Given the description of an element on the screen output the (x, y) to click on. 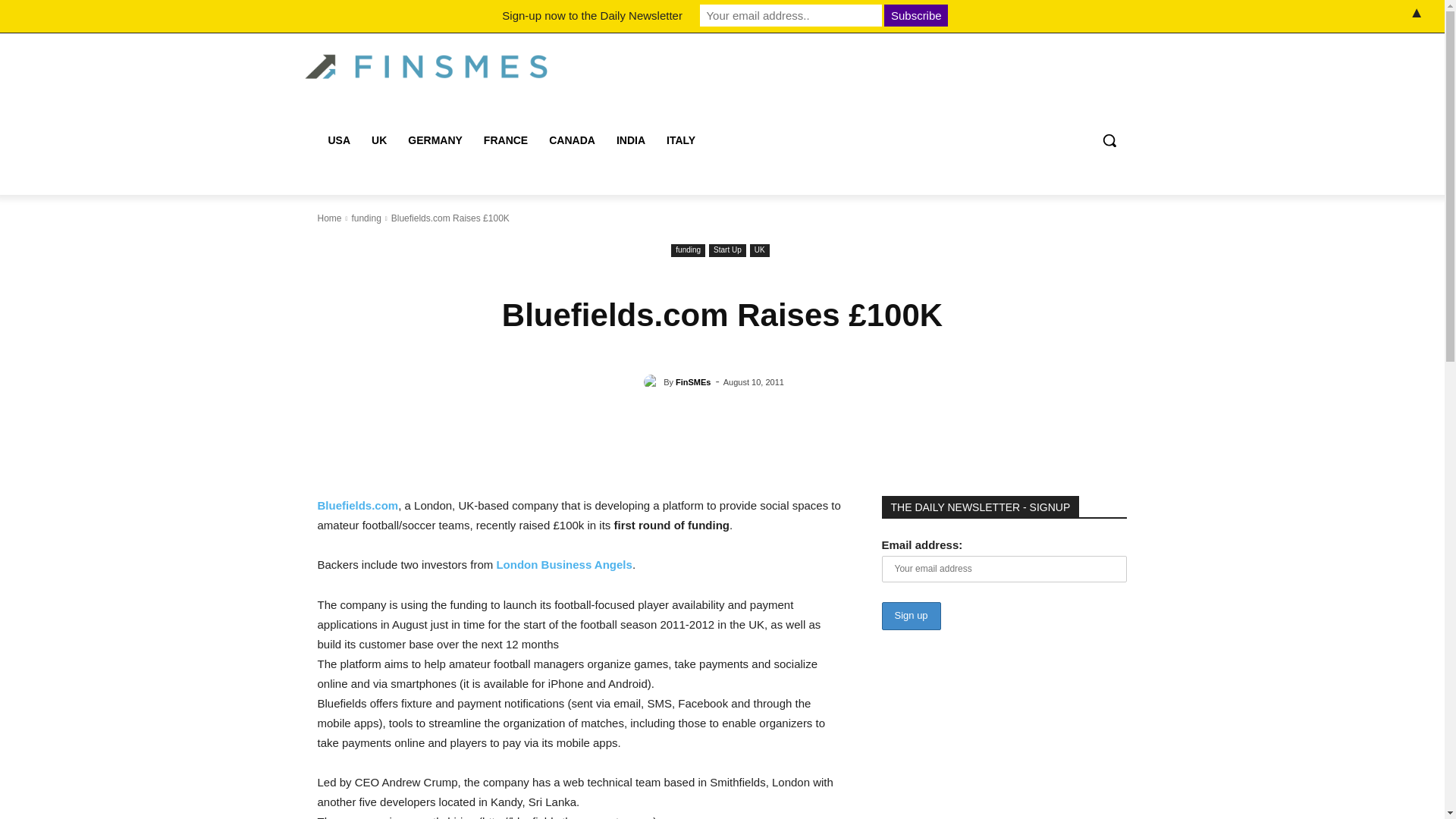
London Business Angels (563, 563)
USA (339, 140)
CANADA (571, 140)
View all posts in funding (365, 217)
funding (365, 217)
UK (759, 250)
UK (379, 140)
Bluefields.com (357, 504)
GERMANY (435, 140)
Start Up (727, 250)
